Given the description of an element on the screen output the (x, y) to click on. 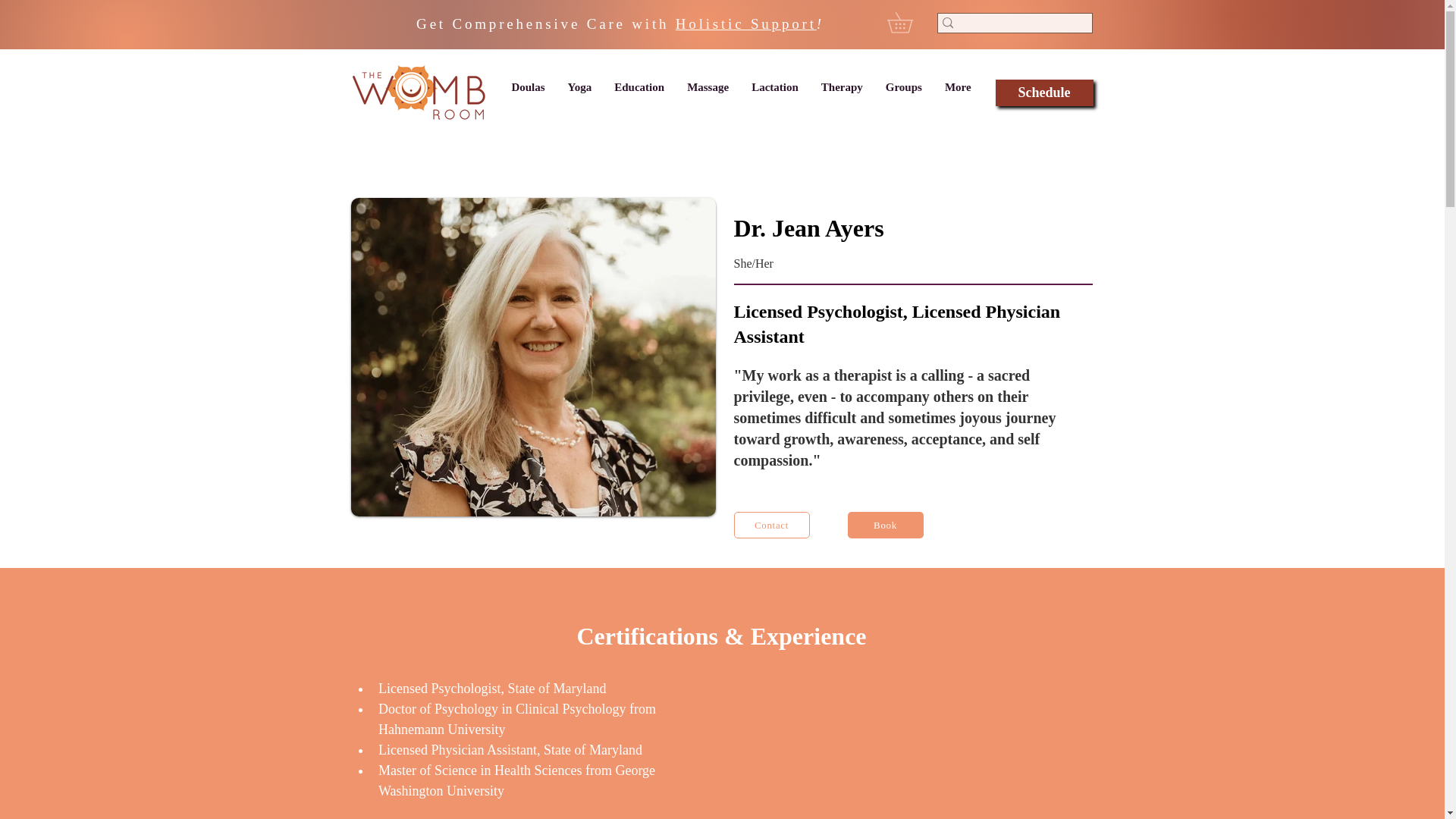
Doulas (527, 92)
Therapy (842, 92)
Holistic Support (745, 23)
Lactation (774, 92)
Yoga (580, 92)
Education (638, 92)
Book (885, 524)
Groups (904, 92)
Get Comprehensive Care with  (545, 23)
Contact (771, 524)
Massage (707, 92)
Schedule (1043, 92)
! (820, 23)
